Given the description of an element on the screen output the (x, y) to click on. 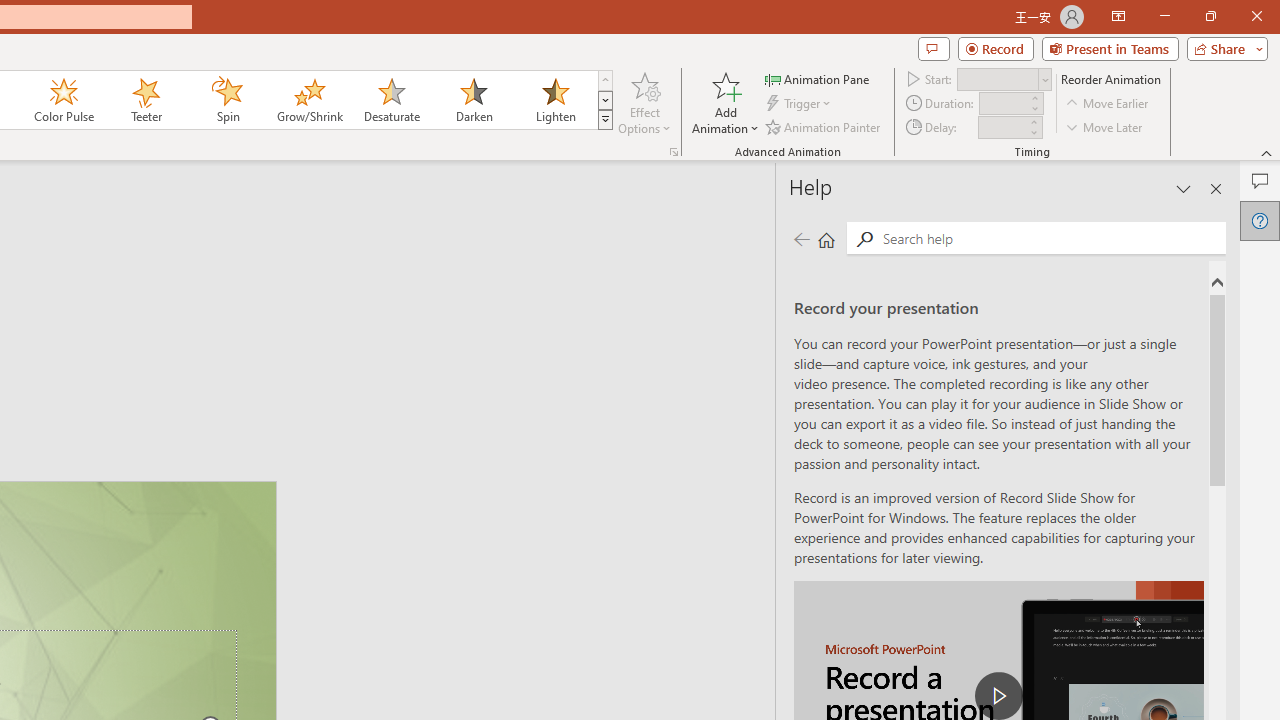
Previous page (801, 238)
play Record a Presentation (998, 695)
More Options... (673, 151)
Animation Delay (1002, 127)
Animation Duration (1003, 103)
Spin (227, 100)
Move Later (1105, 126)
Grow/Shrink (309, 100)
